Given the description of an element on the screen output the (x, y) to click on. 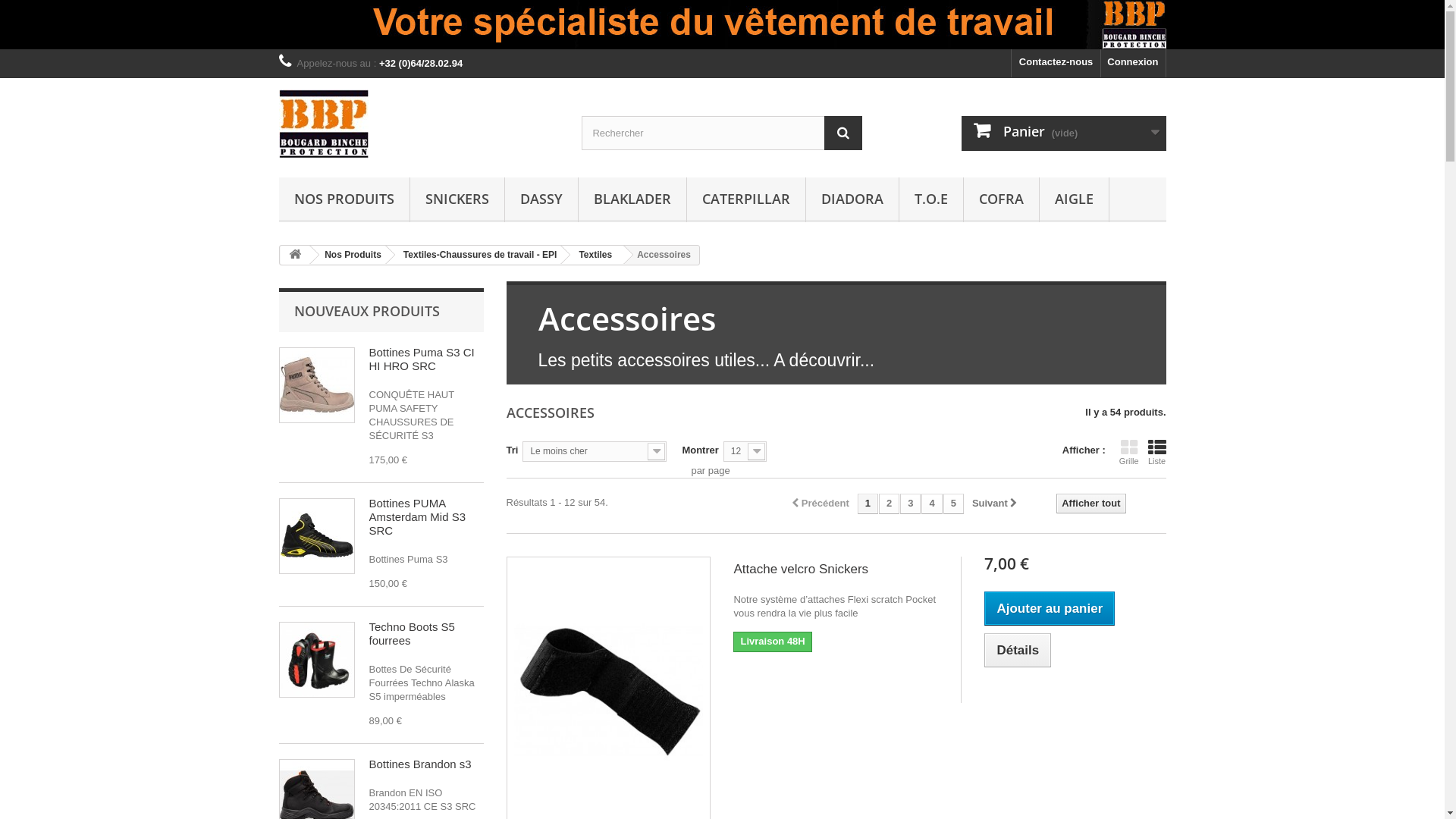
CATERPILLAR Element type: text (746, 199)
T.O.E Element type: text (931, 199)
Bottines Brandon s3 Element type: text (419, 763)
COFRA Element type: text (1000, 199)
Attache velcro Snickers Element type: hover (608, 690)
NOS PRODUITS Element type: text (344, 199)
Connexion Element type: text (1132, 63)
Bottines Puma S3 CI HI HRO SRC Element type: text (420, 358)
DASSY Element type: text (541, 199)
Attache velcro Snickers Element type: text (835, 568)
NOUVEAUX PRODUITS Element type: text (366, 310)
4 Element type: text (931, 503)
BLAKLADER Element type: text (631, 199)
SNICKERS Element type: text (456, 199)
Afficher tout Element type: text (1090, 503)
Bottines PUMA Amsterdam Mid S3 SRC Element type: text (416, 516)
Suivant Element type: text (994, 503)
Textiles Element type: text (592, 254)
3 Element type: text (910, 503)
Textiles-Chaussures de travail - EPI Element type: text (477, 254)
AIGLE Element type: text (1072, 199)
DIADORA Element type: text (851, 199)
Liste Element type: text (1157, 451)
Panier (vide) Element type: text (1063, 133)
Grille Element type: text (1129, 451)
BBP Element type: hover (419, 123)
Contactez-nous Element type: text (1056, 63)
5 Element type: text (953, 503)
2 Element type: text (888, 503)
Nos Produits Element type: text (349, 254)
Techno Boots S5 fourrees Element type: text (411, 633)
Ajouter au panier Element type: text (1049, 608)
